Given the description of an element on the screen output the (x, y) to click on. 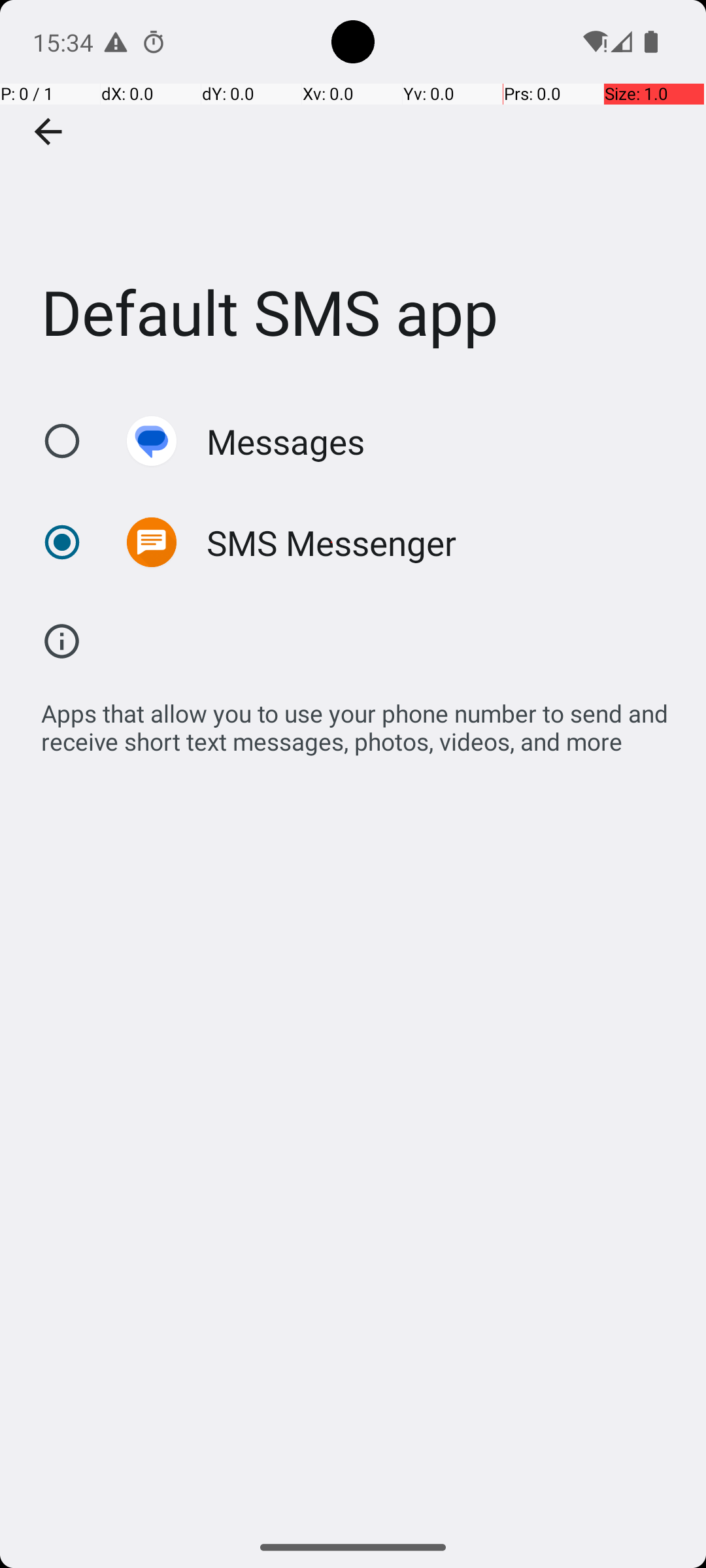
Default SMS app Element type: android.widget.FrameLayout (353, 195)
Apps that allow you to use your phone number to send and receive short text messages, photos, videos, and more Element type: android.widget.TextView (359, 720)
Android System notification:  Element type: android.widget.ImageView (115, 41)
